Given the description of an element on the screen output the (x, y) to click on. 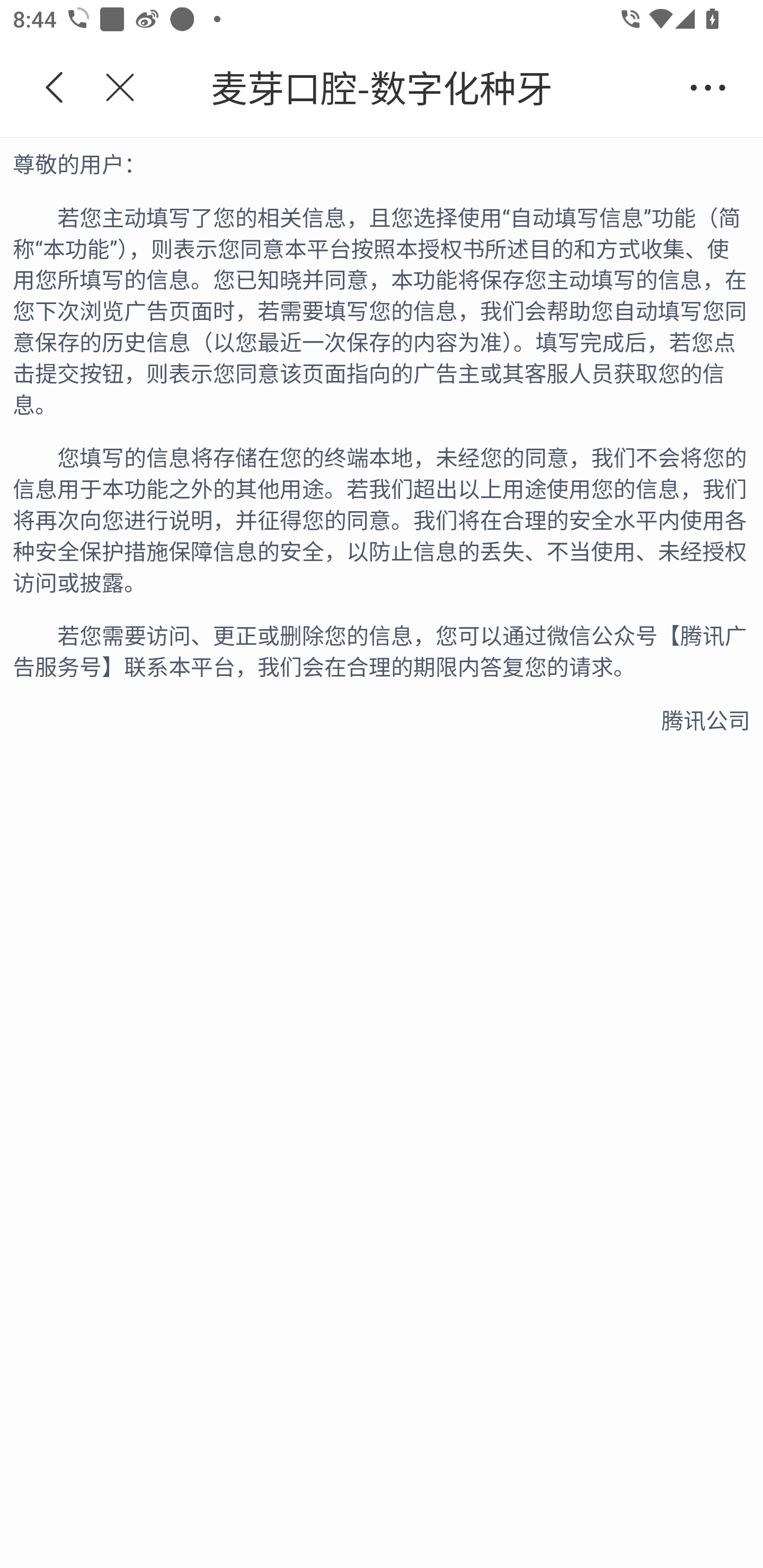
 (109, 87)
麦芽口腔-数字化种牙 (411, 87)
 返回 (54, 87)
 更多 (707, 87)
